Given the description of an element on the screen output the (x, y) to click on. 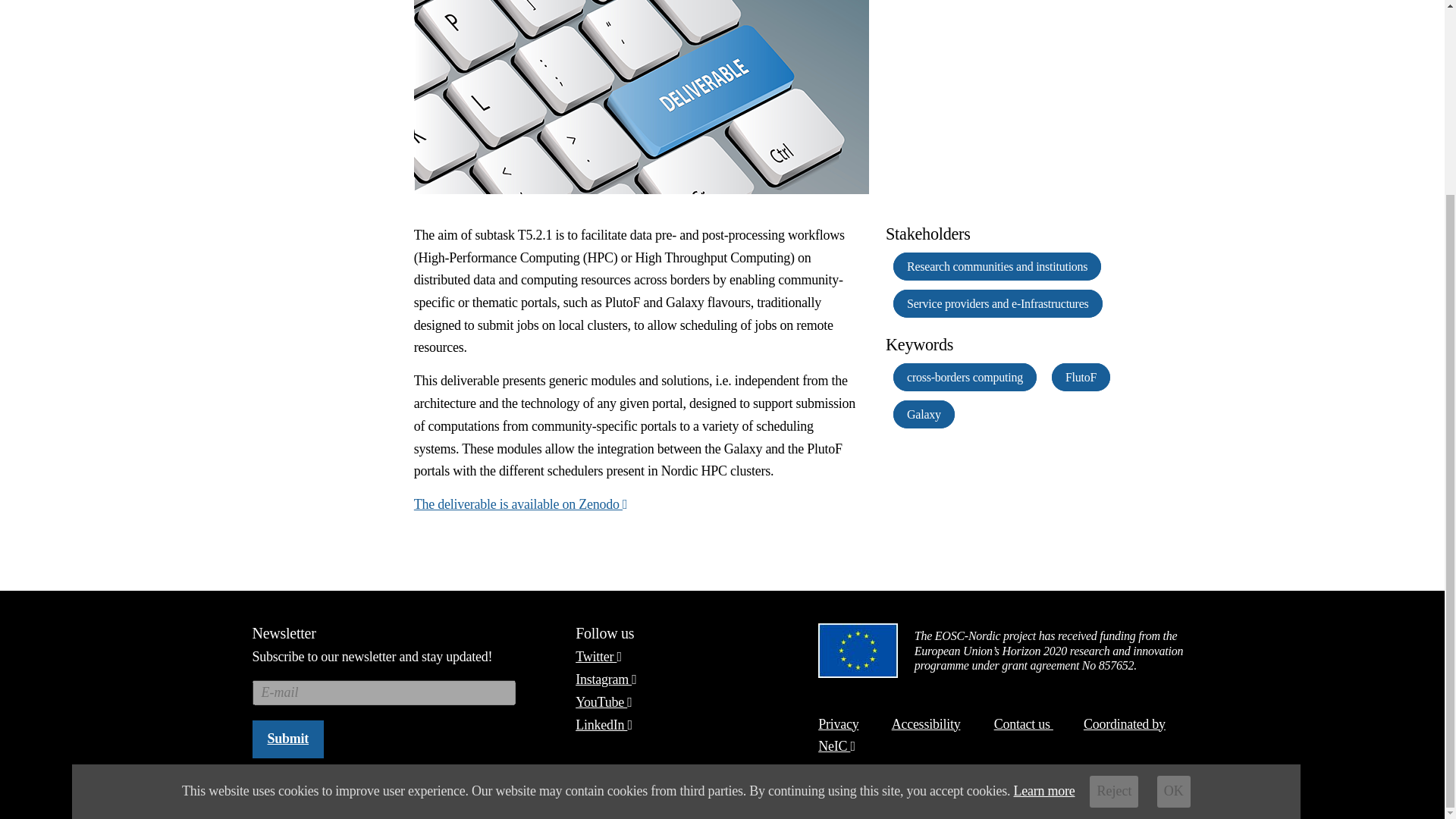
Service providers and e-Infrastructures (997, 303)
The deliverable is available on Zenodo (520, 503)
FlutoF (1080, 377)
cross-borders computing (964, 377)
Galaxy (924, 414)
Research communities and institutions (996, 266)
